Given the description of an element on the screen output the (x, y) to click on. 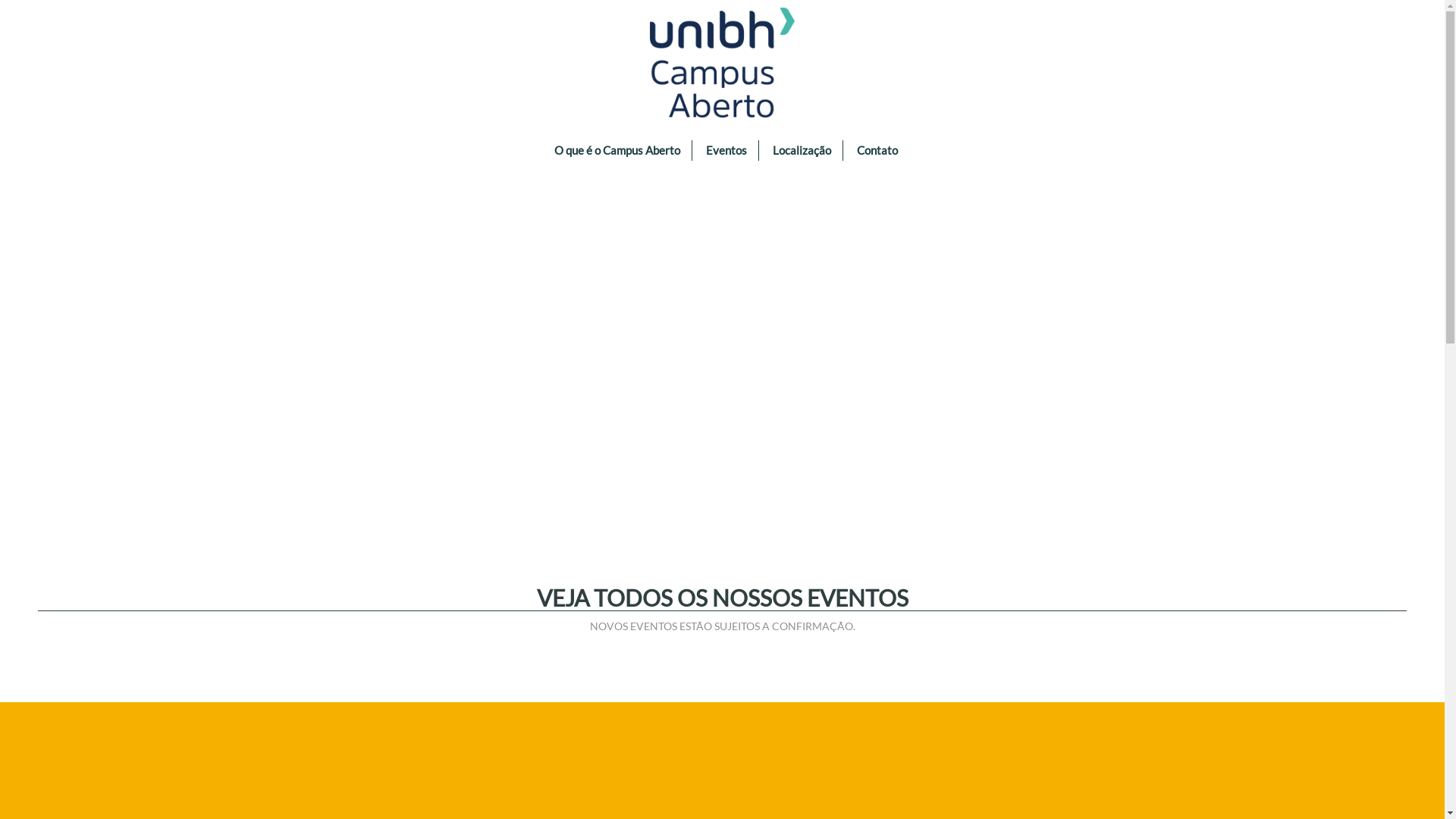
Eventos Element type: text (726, 149)
Contato Element type: text (876, 149)
